Given the description of an element on the screen output the (x, y) to click on. 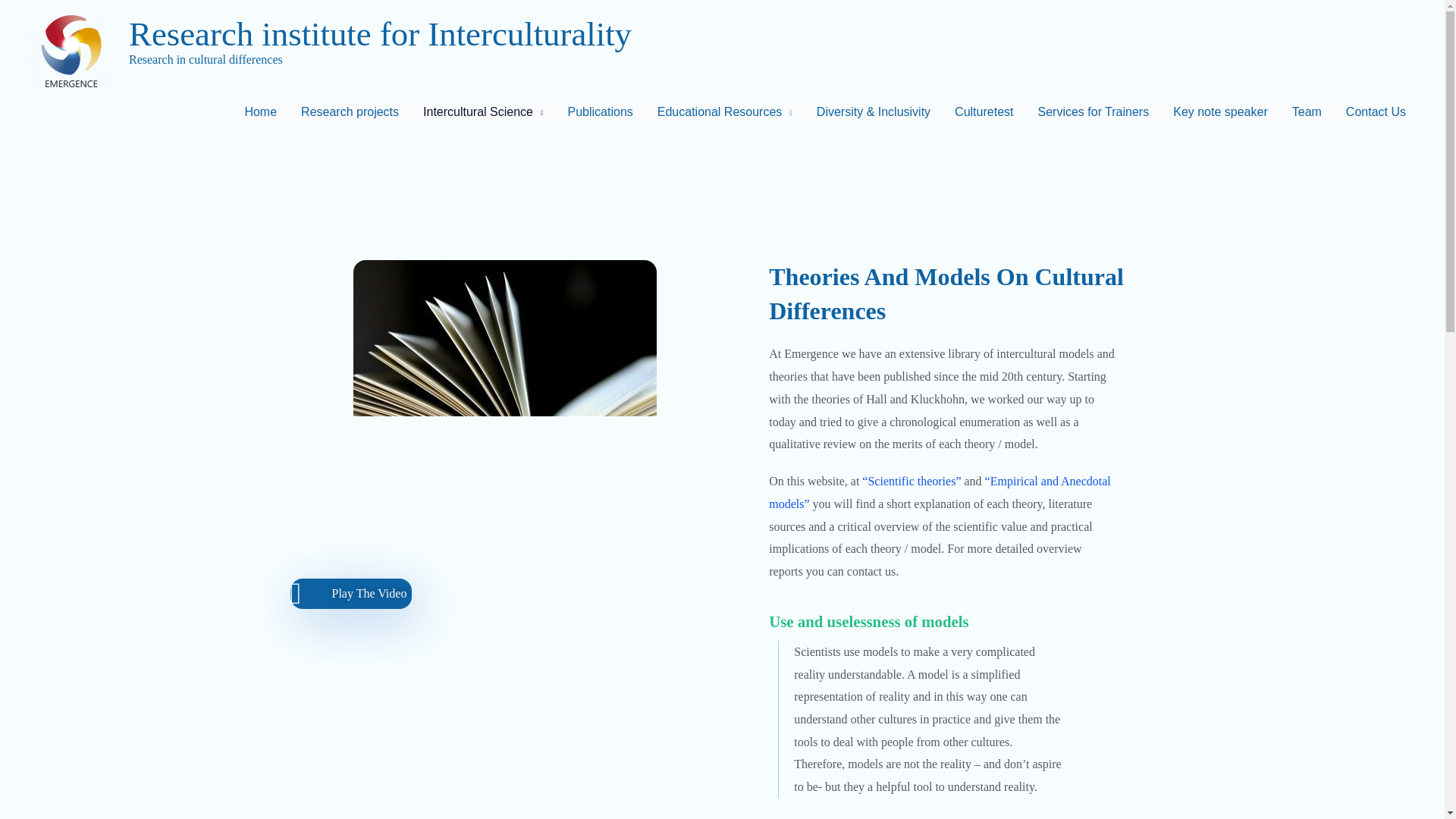
Research projects (349, 111)
Home (259, 111)
Culturetest (983, 111)
Key note speaker (1219, 111)
Team (1306, 111)
Contact Us (1375, 111)
Publications (600, 111)
Intercultural Science (482, 111)
Educational Resources (725, 111)
Research institute for Interculturality (380, 34)
